Given the description of an element on the screen output the (x, y) to click on. 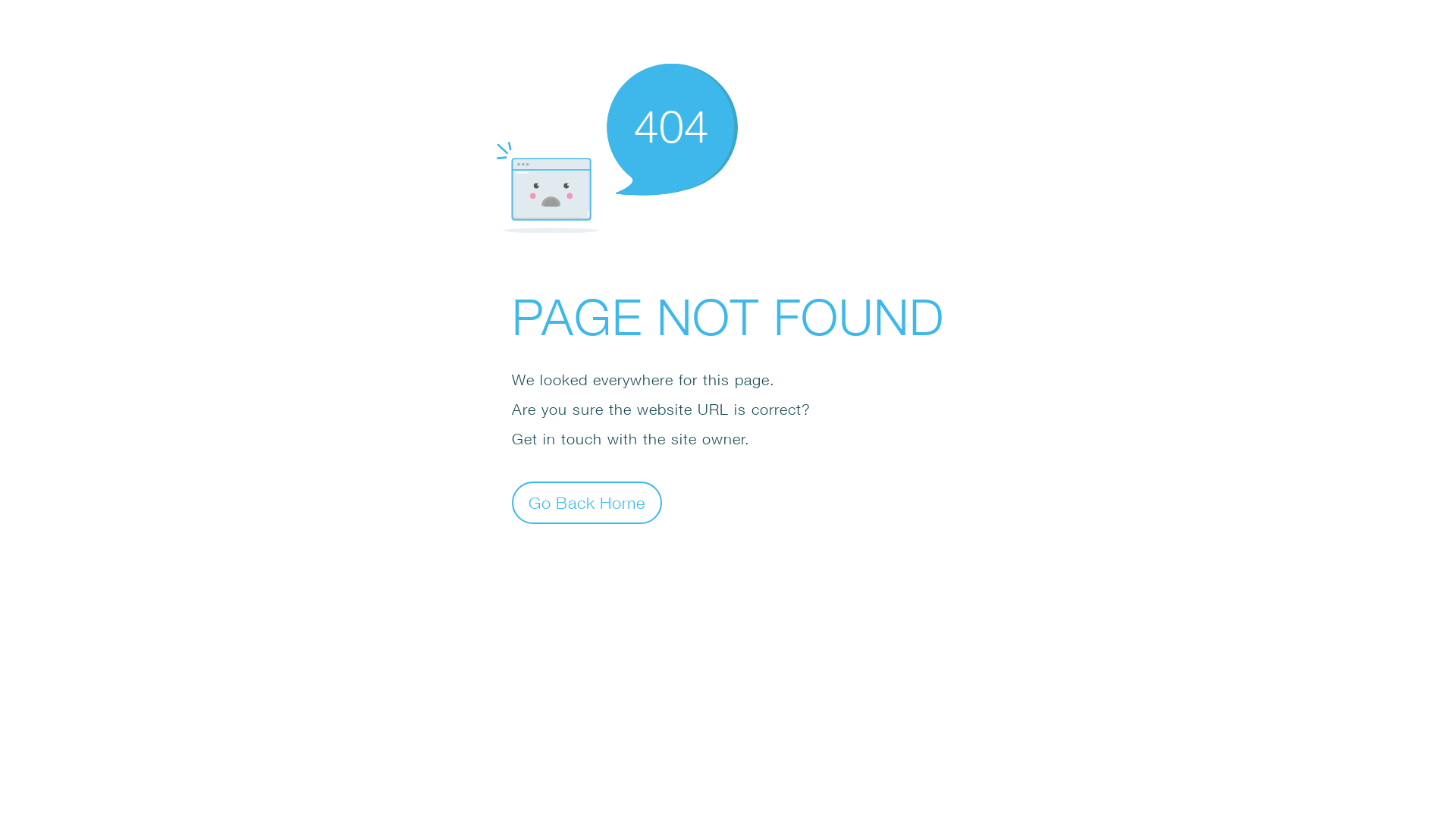
Go Back Home Element type: text (586, 502)
